Given the description of an element on the screen output the (x, y) to click on. 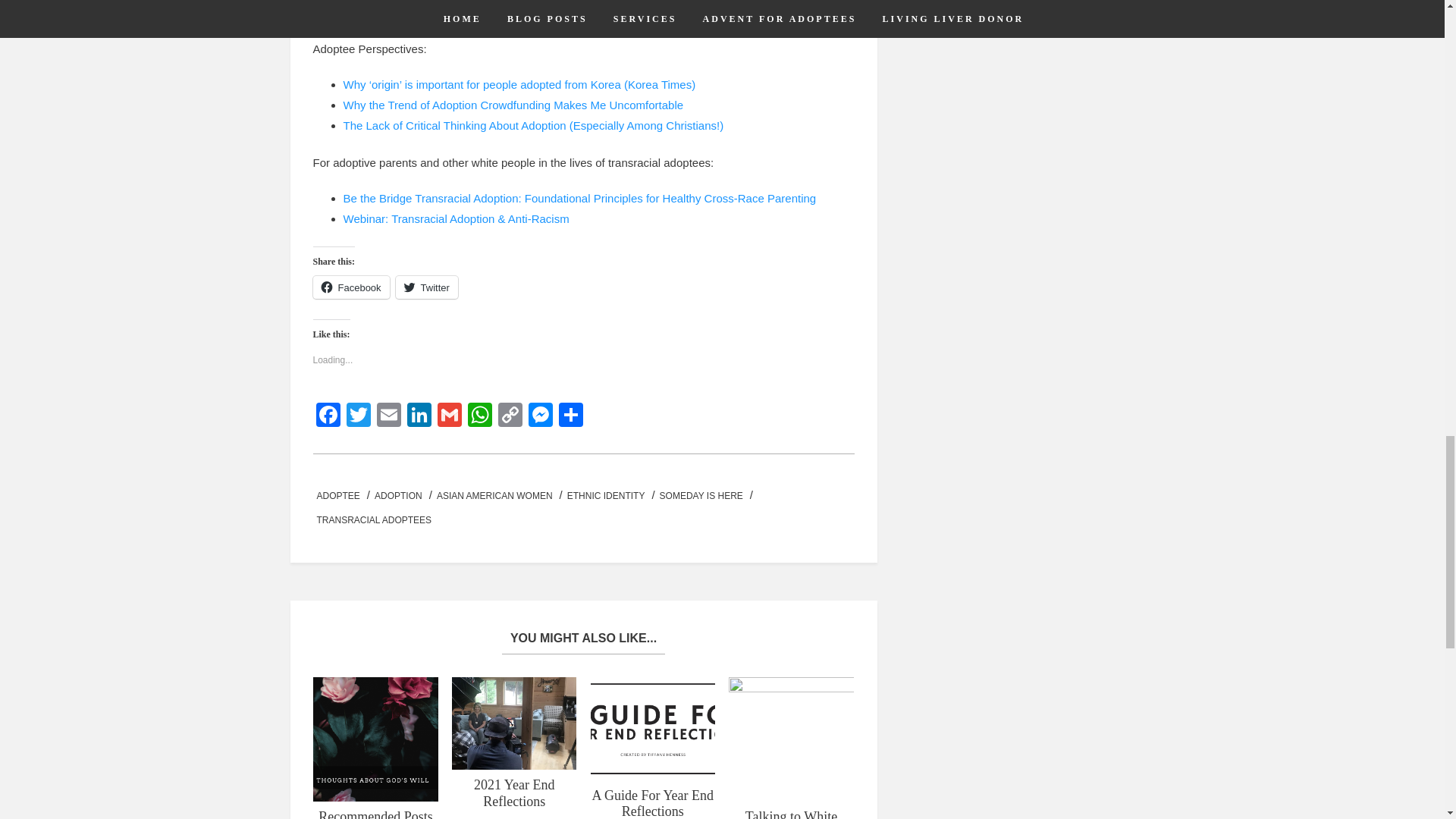
Click to share on Twitter (427, 287)
Twitter (427, 287)
Gmail (448, 416)
Messenger (539, 416)
Twitter (357, 416)
Copy Link (509, 416)
TRANSRACIAL ADOPTEES (374, 520)
Gmail (448, 416)
SOMEDAY IS HERE (701, 496)
